Given the description of an element on the screen output the (x, y) to click on. 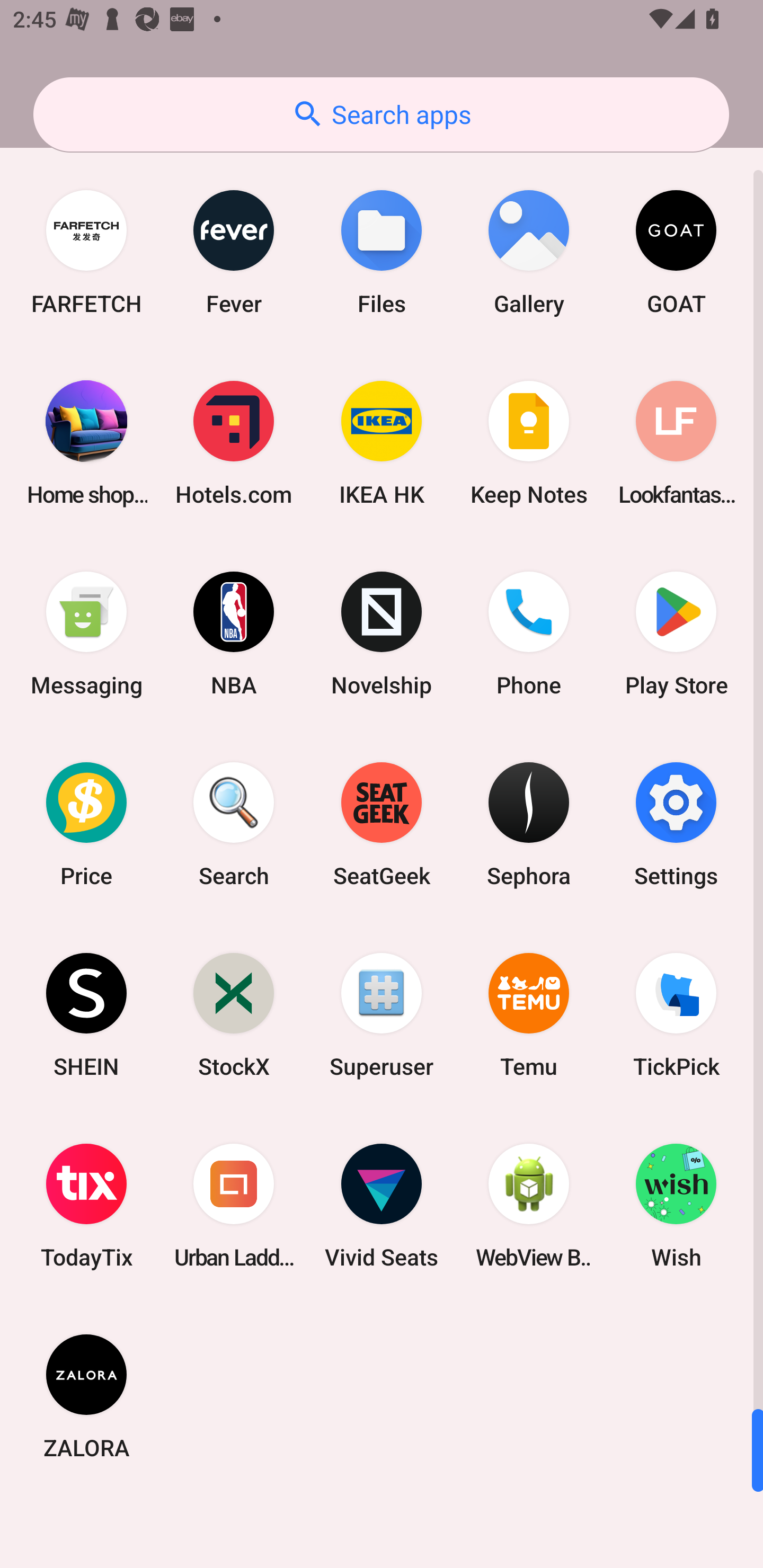
  Search apps (381, 114)
FARFETCH (86, 252)
Fever (233, 252)
Files (381, 252)
Gallery (528, 252)
GOAT (676, 252)
Home shopping (86, 442)
Hotels.com (233, 442)
IKEA HK (381, 442)
Keep Notes (528, 442)
Lookfantastic (676, 442)
Messaging (86, 633)
NBA (233, 633)
Novelship (381, 633)
Phone (528, 633)
Play Store (676, 633)
Price (86, 823)
Search (233, 823)
SeatGeek (381, 823)
Sephora (528, 823)
Settings (676, 823)
SHEIN (86, 1014)
StockX (233, 1014)
Superuser (381, 1014)
Temu (528, 1014)
TickPick (676, 1014)
TodayTix (86, 1205)
Urban Ladder (233, 1205)
Vivid Seats (381, 1205)
WebView Browser Tester (528, 1205)
Wish (676, 1205)
ZALORA (86, 1396)
